Given the description of an element on the screen output the (x, y) to click on. 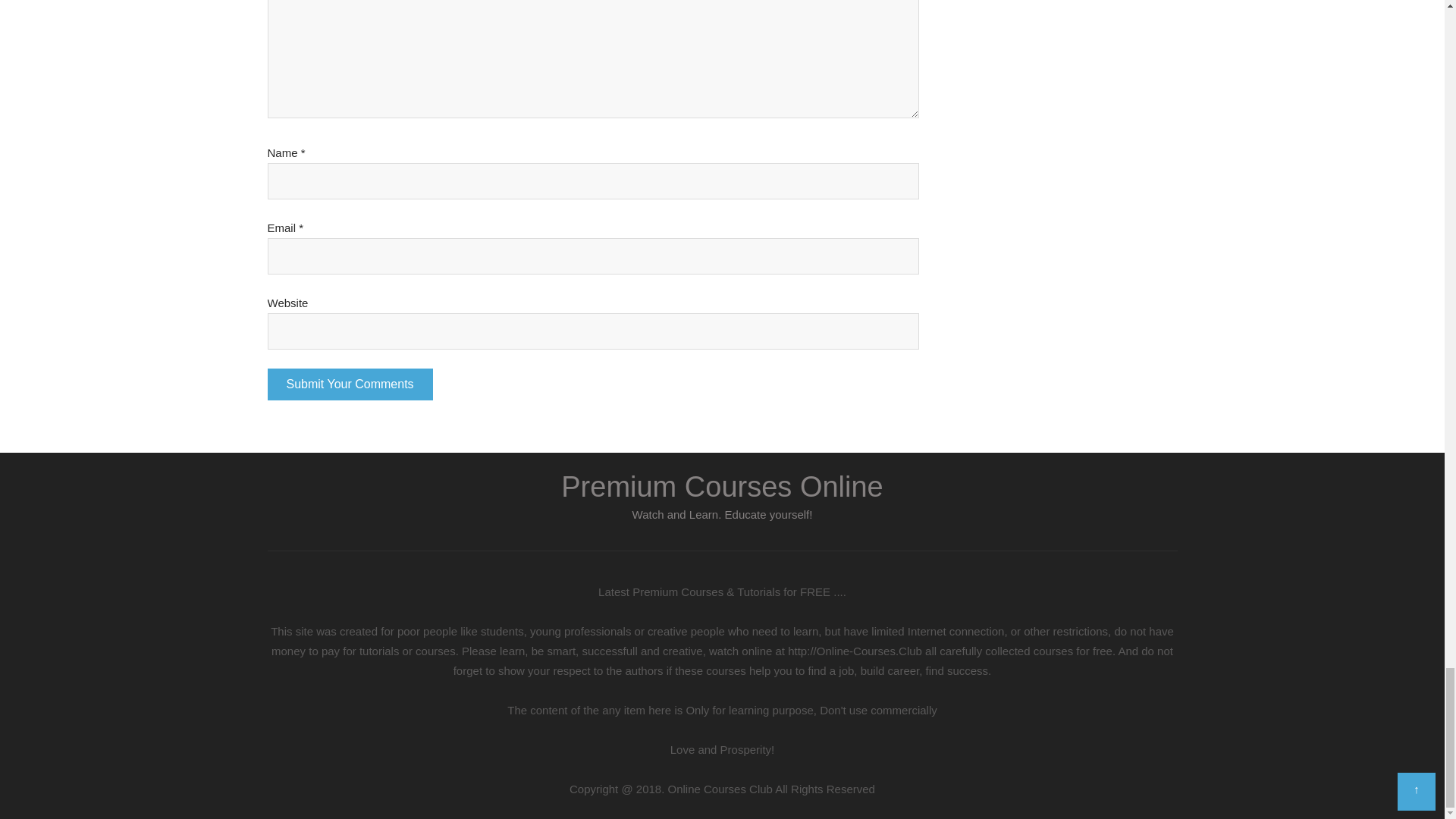
Premium Courses Online (721, 486)
Submit Your Comments (349, 384)
